Given the description of an element on the screen output the (x, y) to click on. 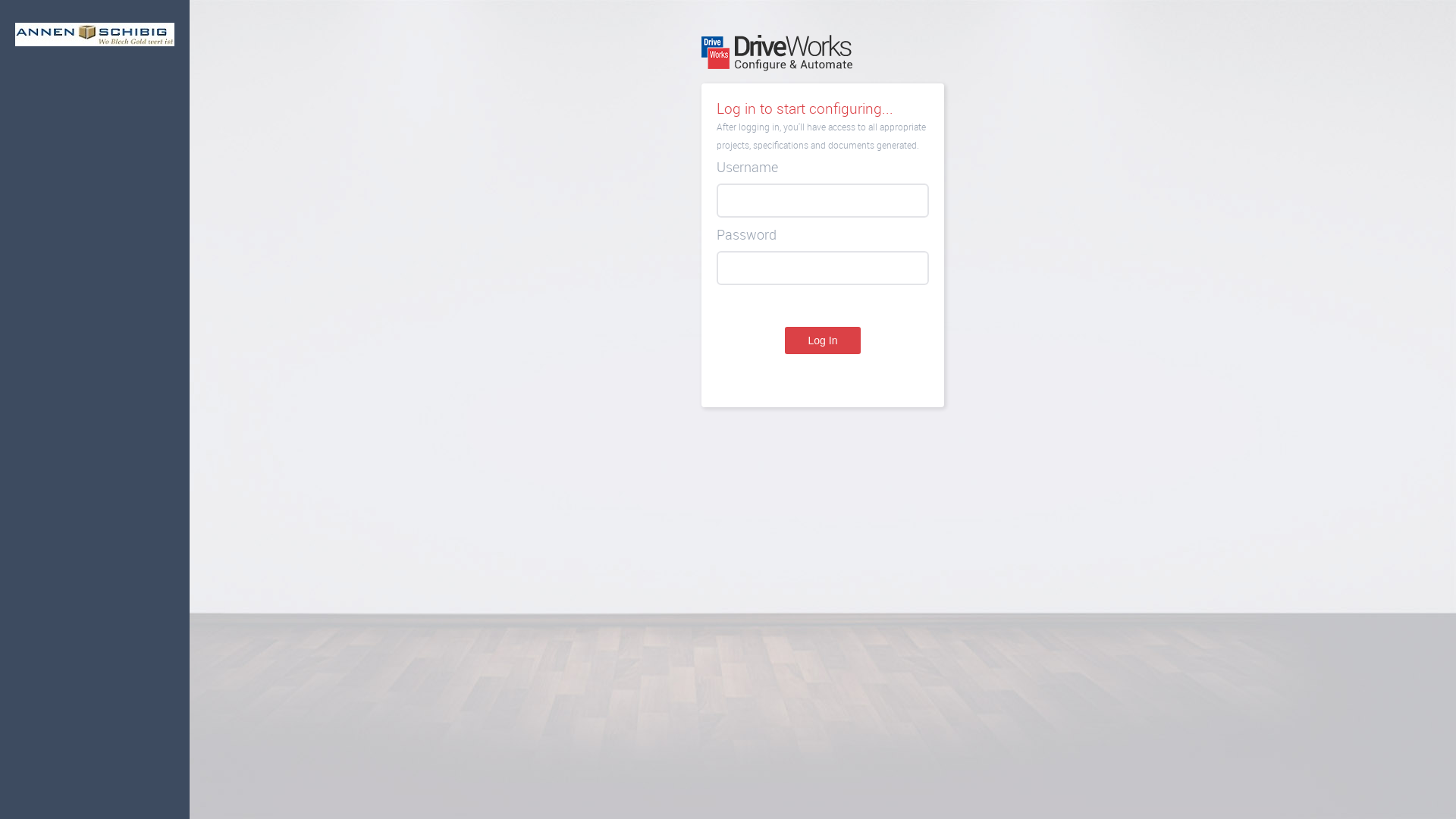
Log In Element type: text (822, 340)
